Given the description of an element on the screen output the (x, y) to click on. 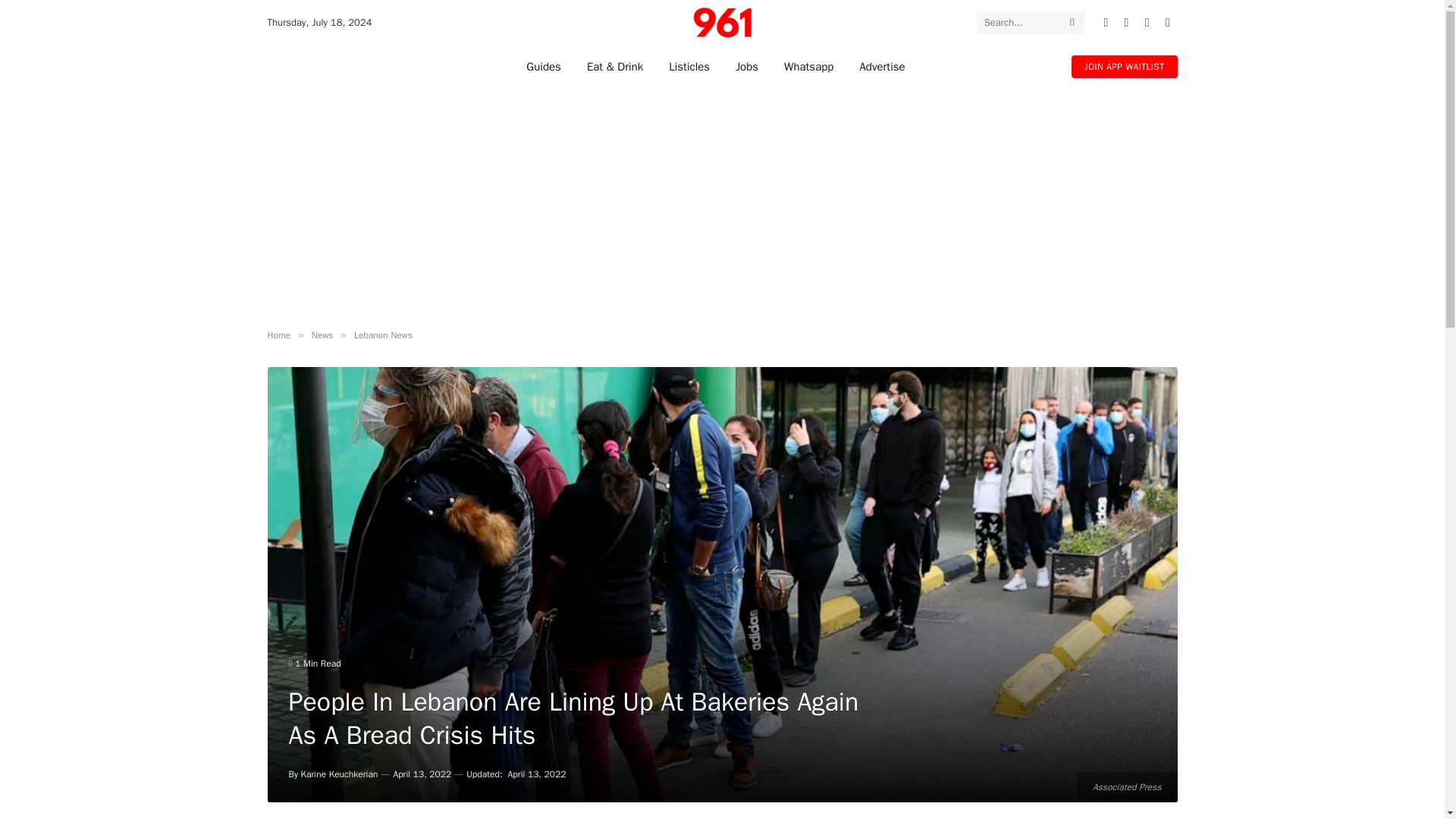
Home (277, 335)
Karine Keuchkerian (339, 774)
JOIN APP WAITLIST (1123, 65)
Guides (543, 65)
Jobs (746, 65)
Lebanon News (382, 335)
News (322, 335)
961 (722, 22)
Advertise (881, 65)
Listicles (689, 65)
Posts by Karine Keuchkerian (339, 774)
Whatsapp (808, 65)
